Given the description of an element on the screen output the (x, y) to click on. 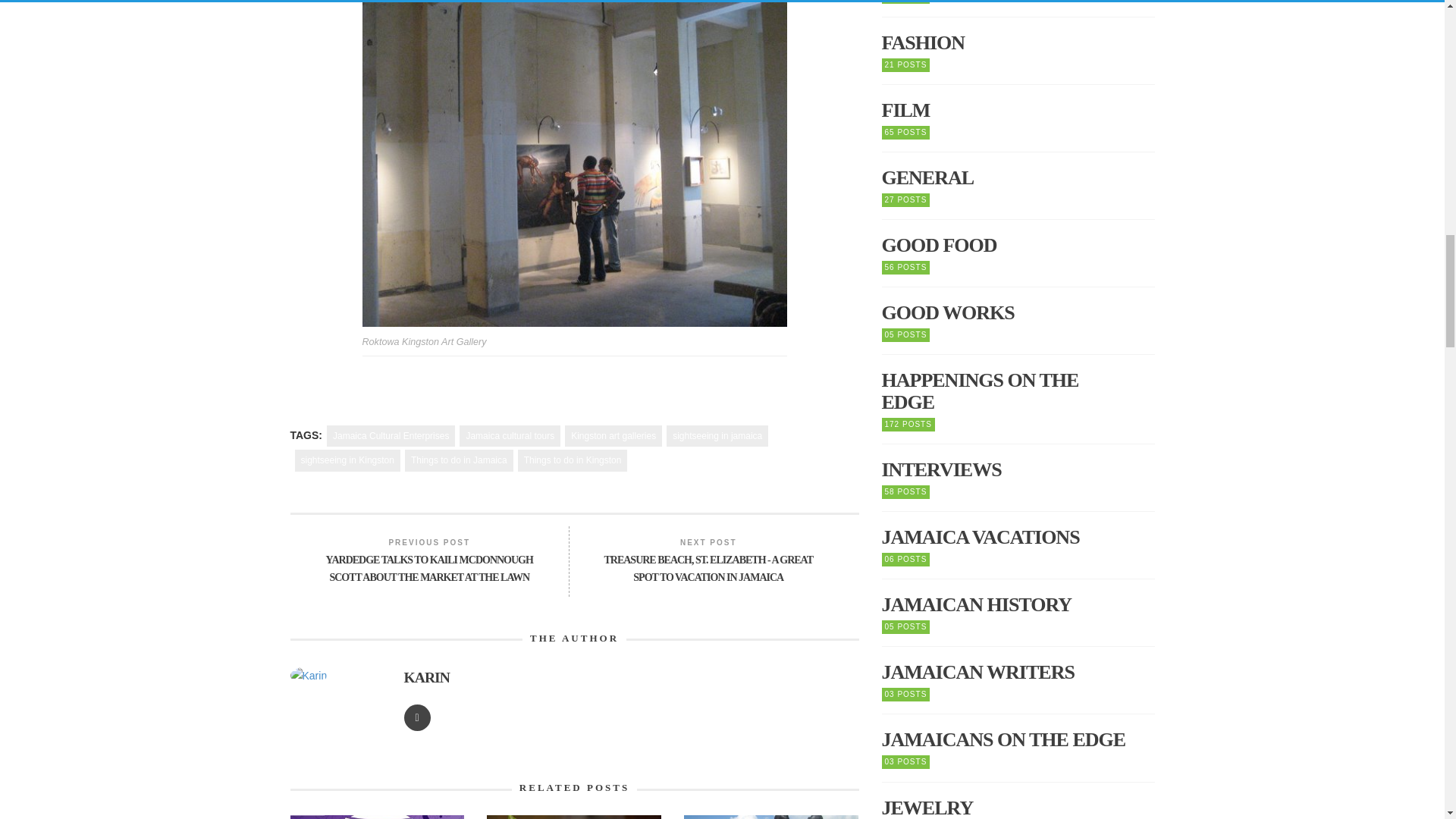
sightseeing in Kingston (346, 460)
Jamaica cultural tours (510, 436)
Things to do in Jamaica (458, 460)
Things to do in Kingston (572, 460)
sightseeing in jamaica (717, 436)
Kingston art galleries (613, 436)
Jamaica Cultural Enterprises (390, 436)
